Given the description of an element on the screen output the (x, y) to click on. 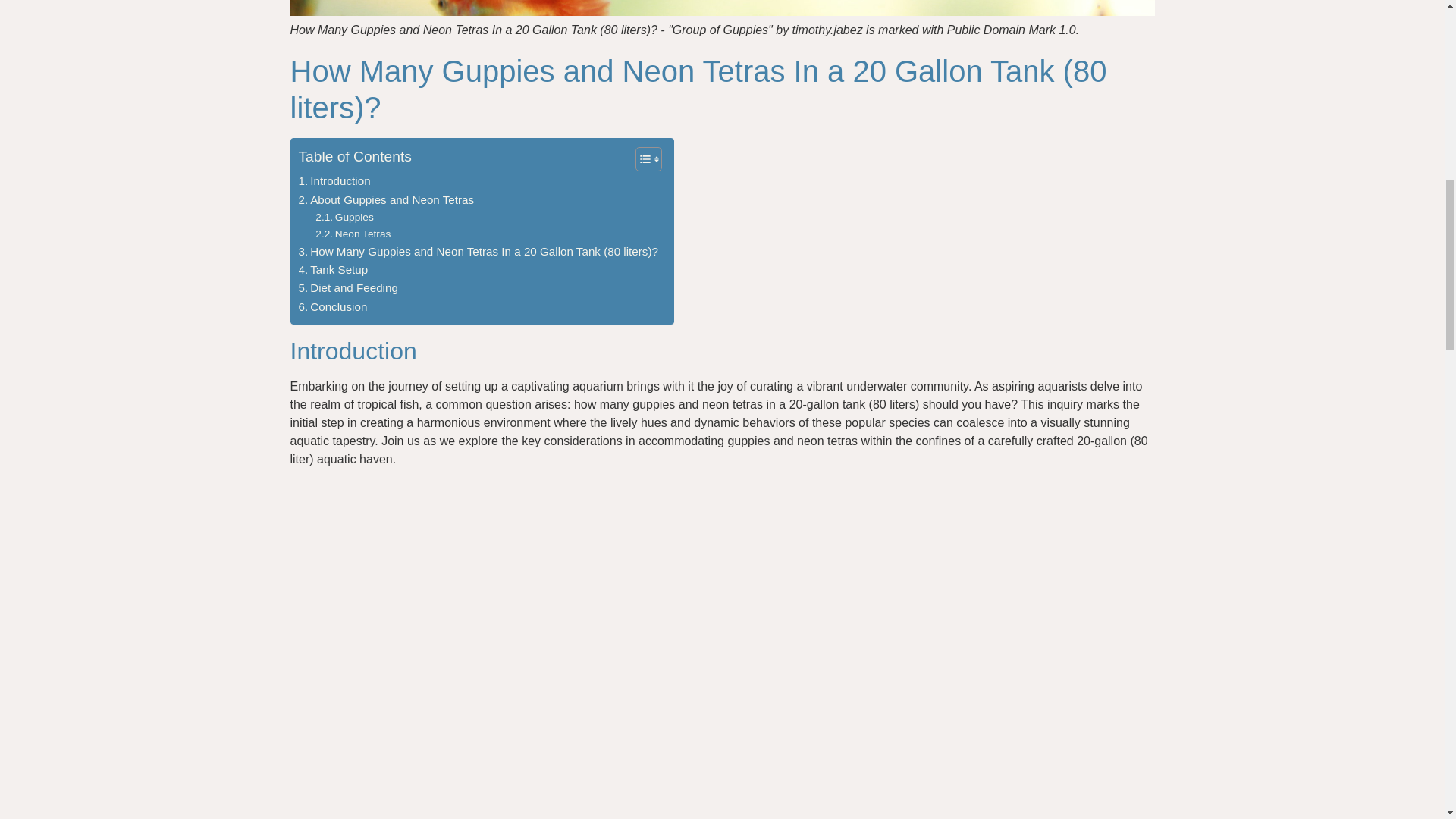
Neon Tetras (352, 234)
Introduction (334, 180)
Tank Setup (333, 270)
Guppies (344, 217)
Guppies (344, 217)
About Guppies and Neon Tetras (386, 199)
Conclusion (333, 307)
Conclusion (333, 307)
Diet and Feeding (347, 288)
Neon Tetras (352, 234)
Diet and Feeding (347, 288)
Tank Setup (333, 270)
About Guppies and Neon Tetras (386, 199)
Introduction (334, 180)
